Given the description of an element on the screen output the (x, y) to click on. 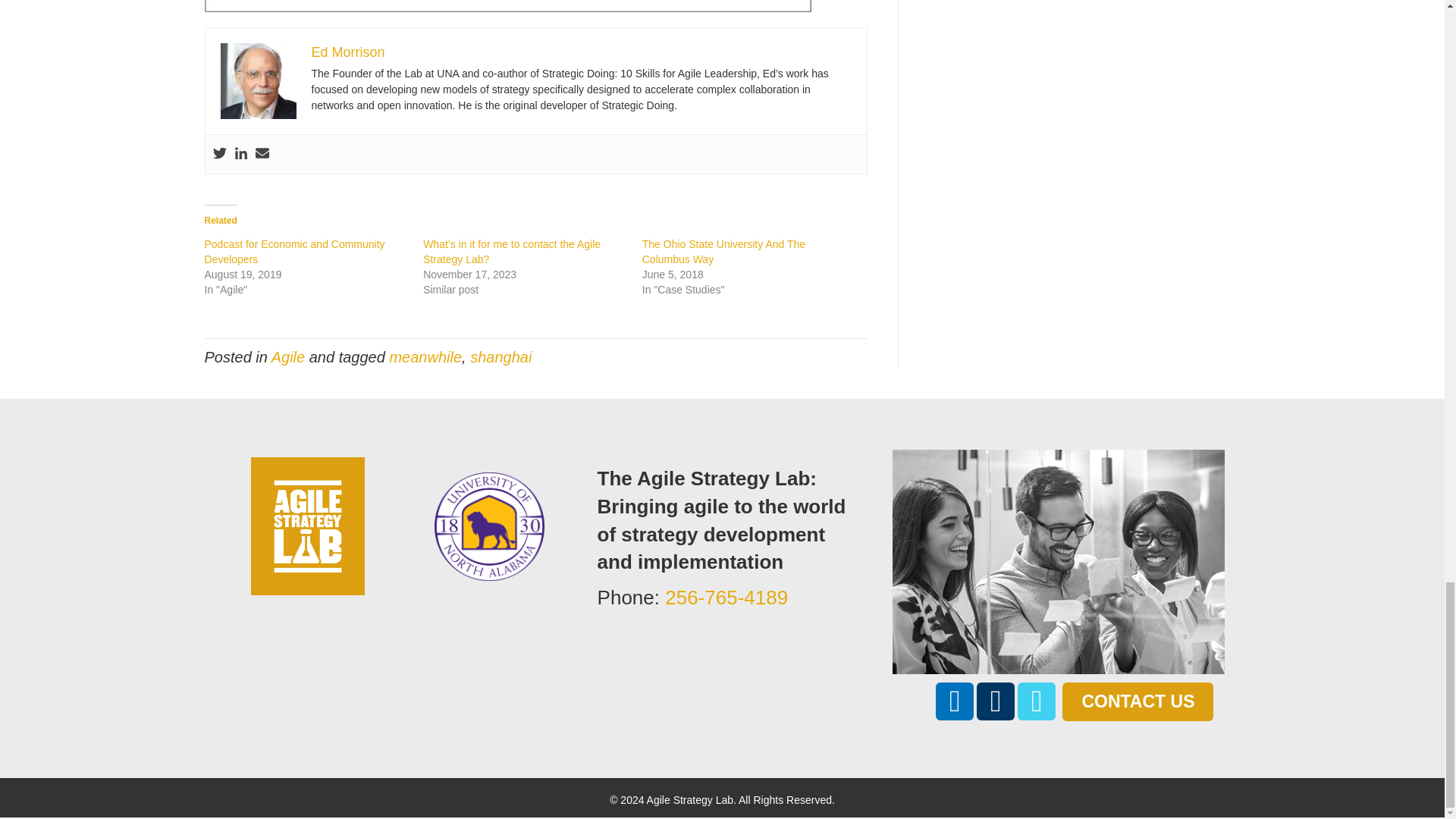
The Ohio State University And The Columbus Way (723, 251)
Podcast for Economic and Community Developers (295, 251)
UNA-roundLionPurpleW (488, 526)
